Given the description of an element on the screen output the (x, y) to click on. 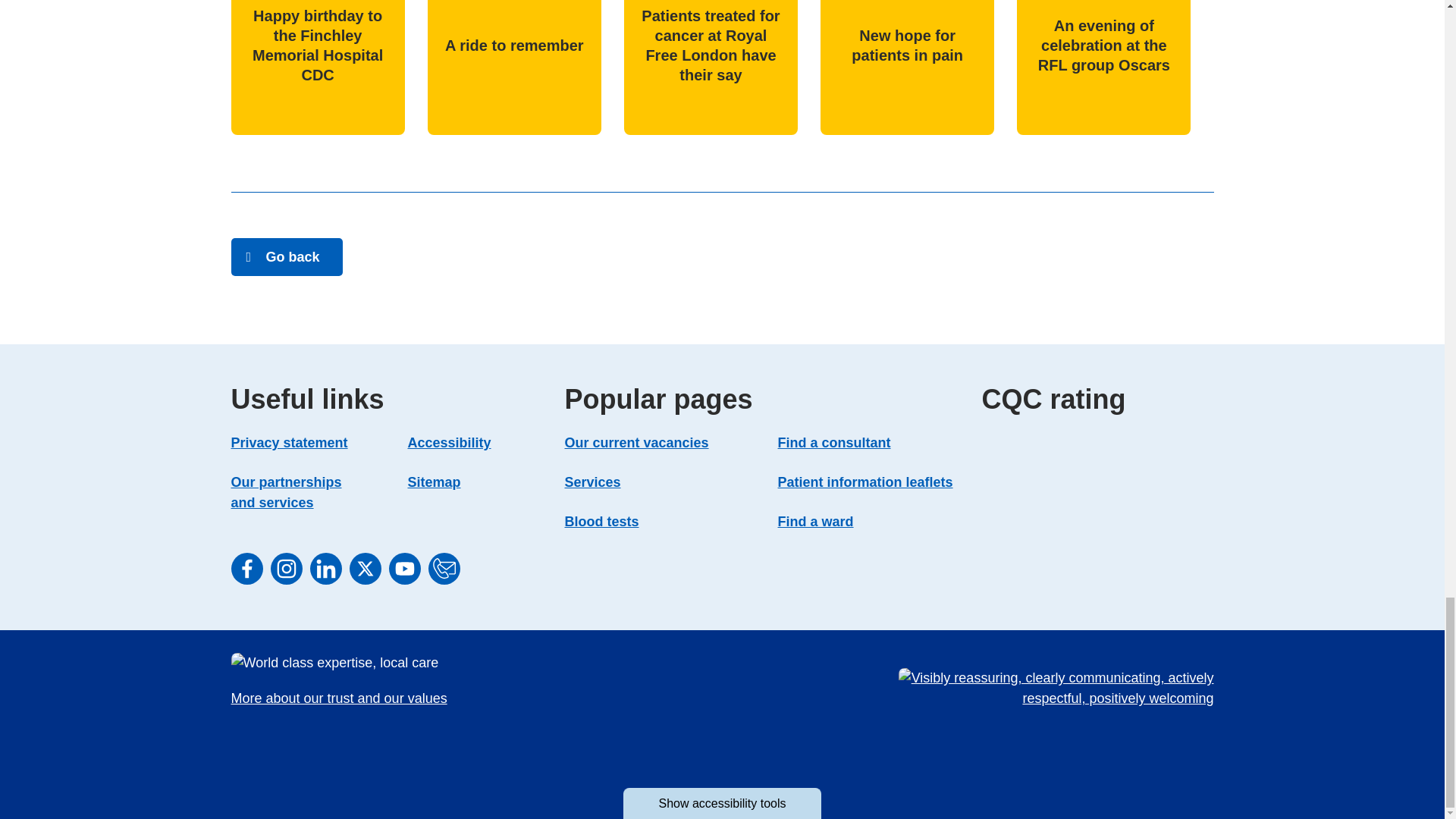
Instagram (285, 568)
LinkedIn (324, 568)
Facebook (246, 568)
Youtube (404, 568)
Go back to News (286, 257)
X (364, 568)
Email (444, 568)
